Given the description of an element on the screen output the (x, y) to click on. 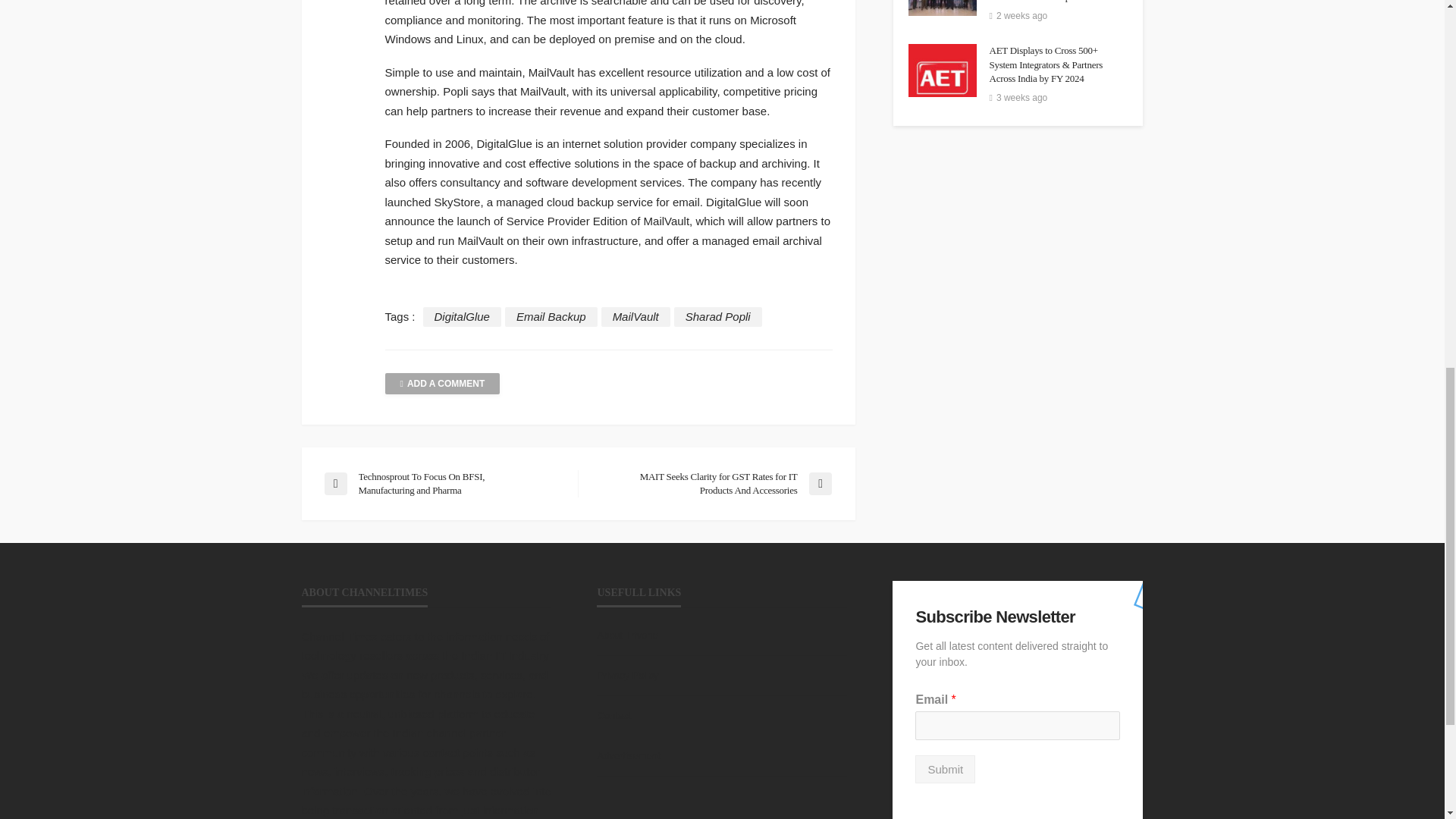
Sharad Popli (717, 316)
DigitalGlue (461, 316)
DigitalGlue (461, 316)
Email Backup (550, 316)
MailVault (635, 316)
Technosprout To Focus On BFSI, Manufacturing and Pharma (443, 483)
Email Backup (550, 316)
Technosprout To Focus On BFSI, Manufacturing and Pharma (443, 483)
ADD A COMMENT (442, 383)
Sharad Popli (717, 316)
MailVault (635, 316)
